Given the description of an element on the screen output the (x, y) to click on. 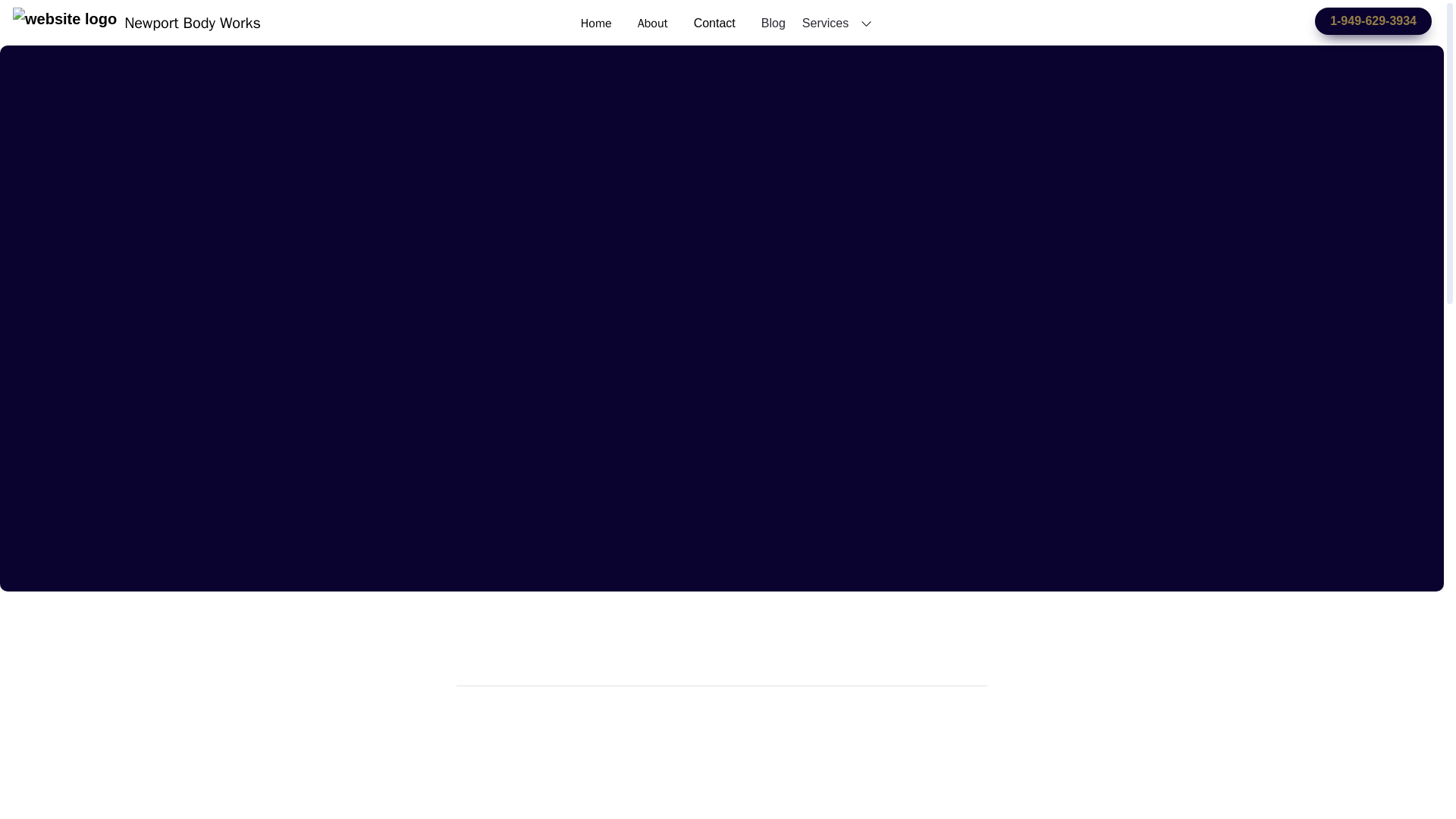
1-949-629-3934 (1372, 21)
Contact (714, 23)
Blog (773, 23)
Services (825, 23)
About (652, 23)
Home (595, 23)
Newport Body Works (134, 23)
